Given the description of an element on the screen output the (x, y) to click on. 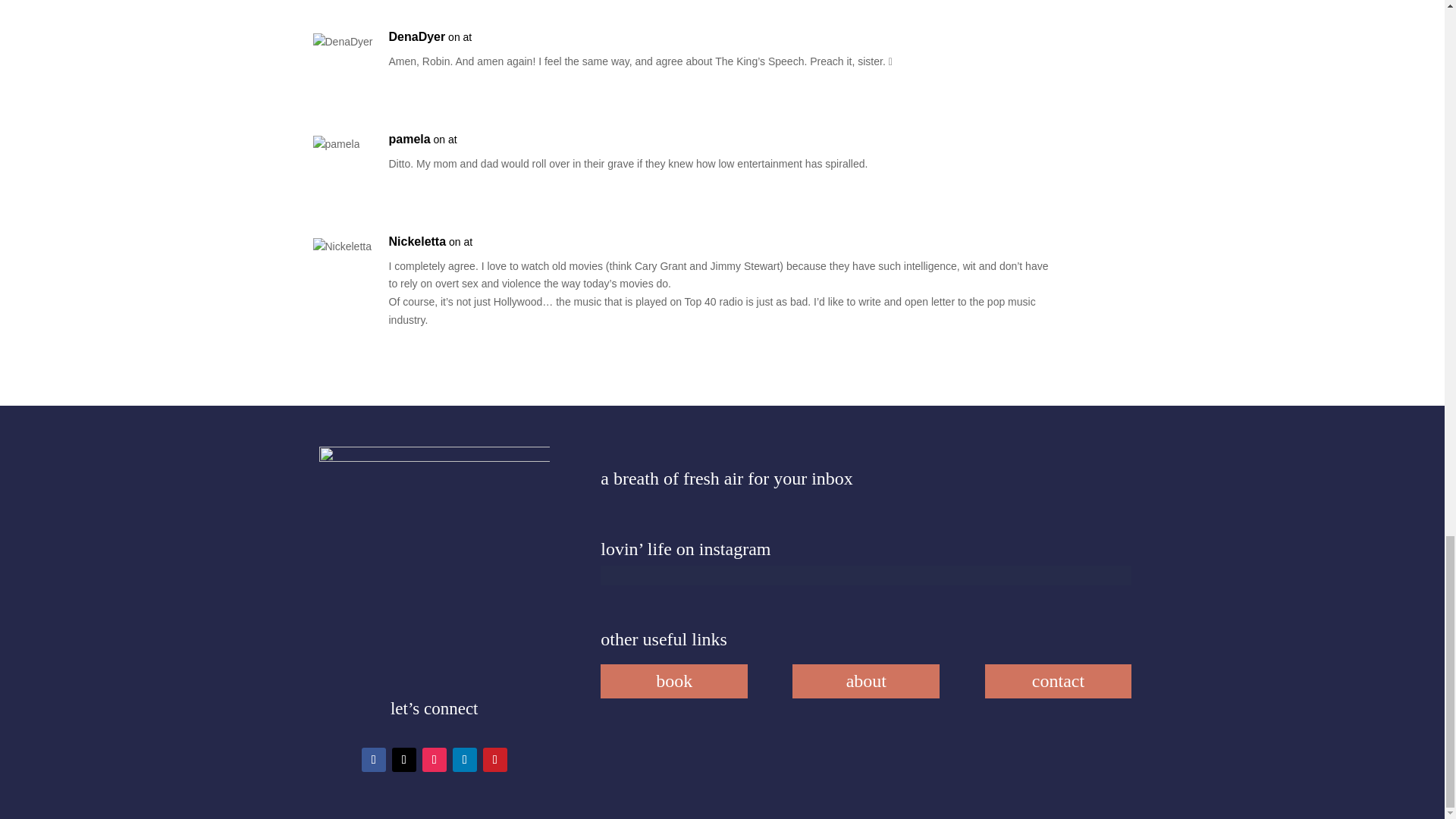
Follow on Facebook (373, 759)
Follow on LinkedIn (464, 759)
Follow on X (403, 759)
Follow on Pinterest (494, 759)
Follow on Instagram (434, 759)
